Given the description of an element on the screen output the (x, y) to click on. 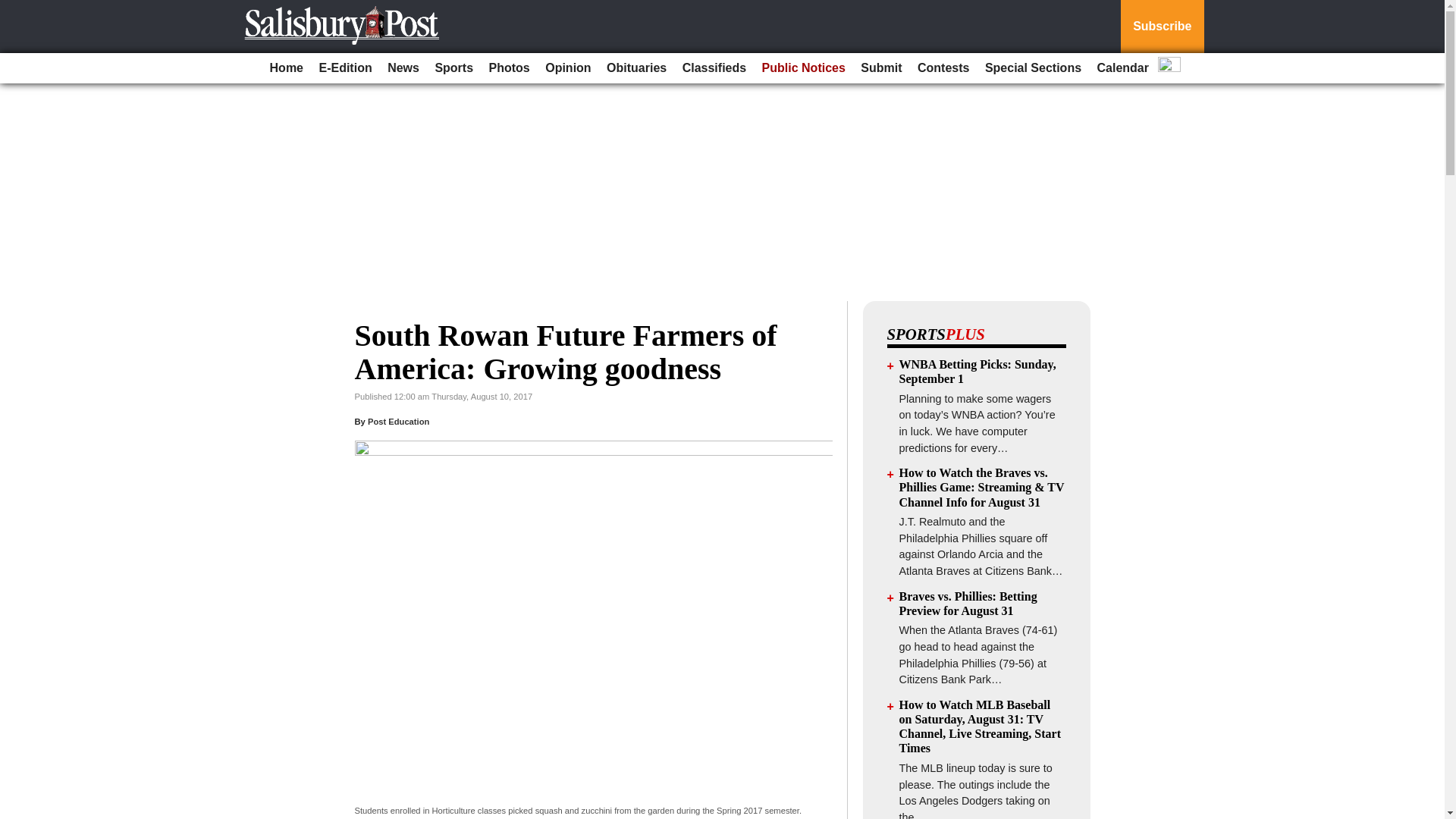
Photos (509, 68)
Submit (880, 68)
Public Notices (803, 68)
Home (285, 68)
Classifieds (714, 68)
Sports (453, 68)
Contests (943, 68)
News (403, 68)
Subscribe (1162, 26)
Obituaries (635, 68)
